Given the description of an element on the screen output the (x, y) to click on. 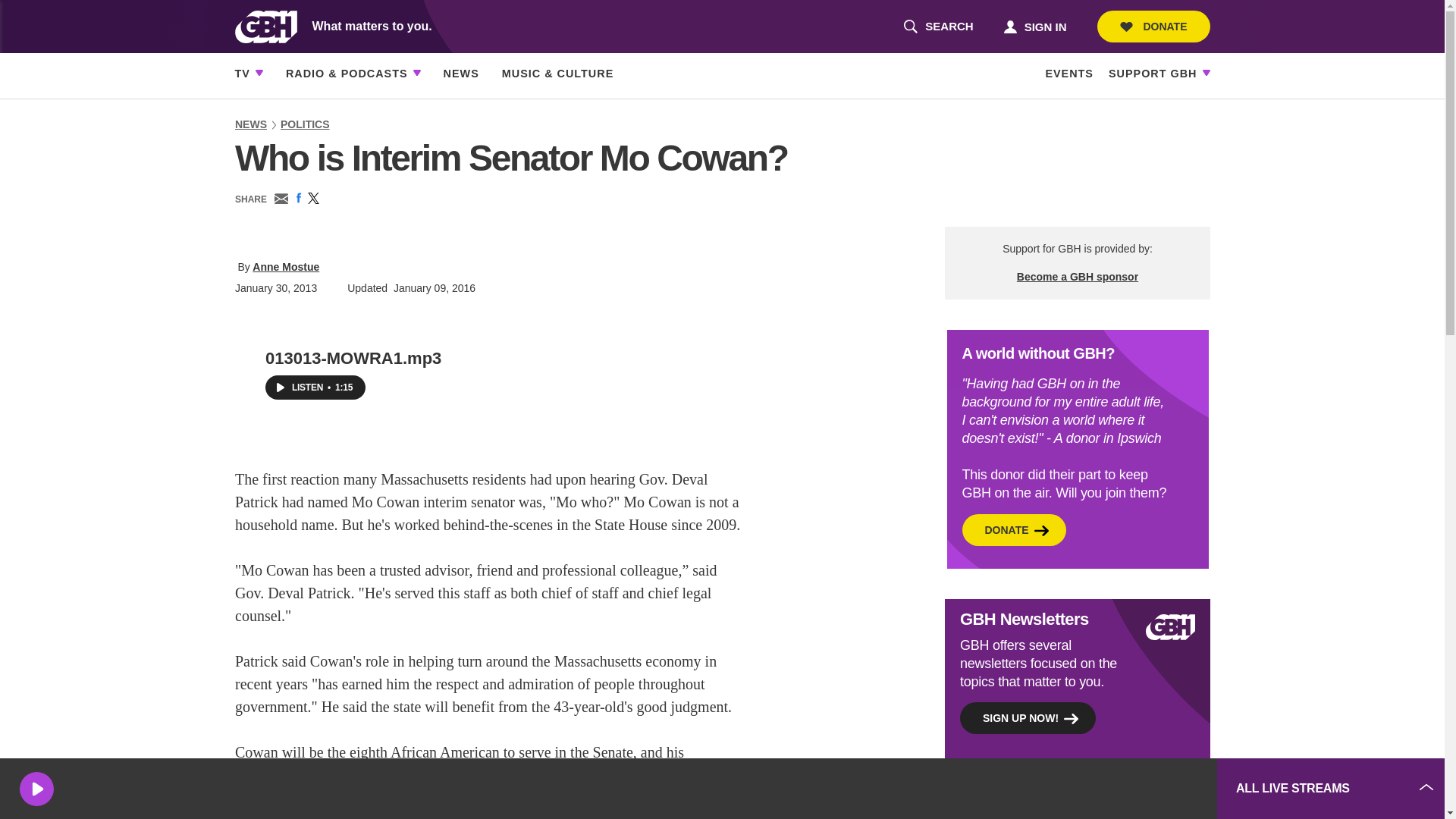
SIGN IN (1034, 25)
DONATE (1153, 26)
